Given the description of an element on the screen output the (x, y) to click on. 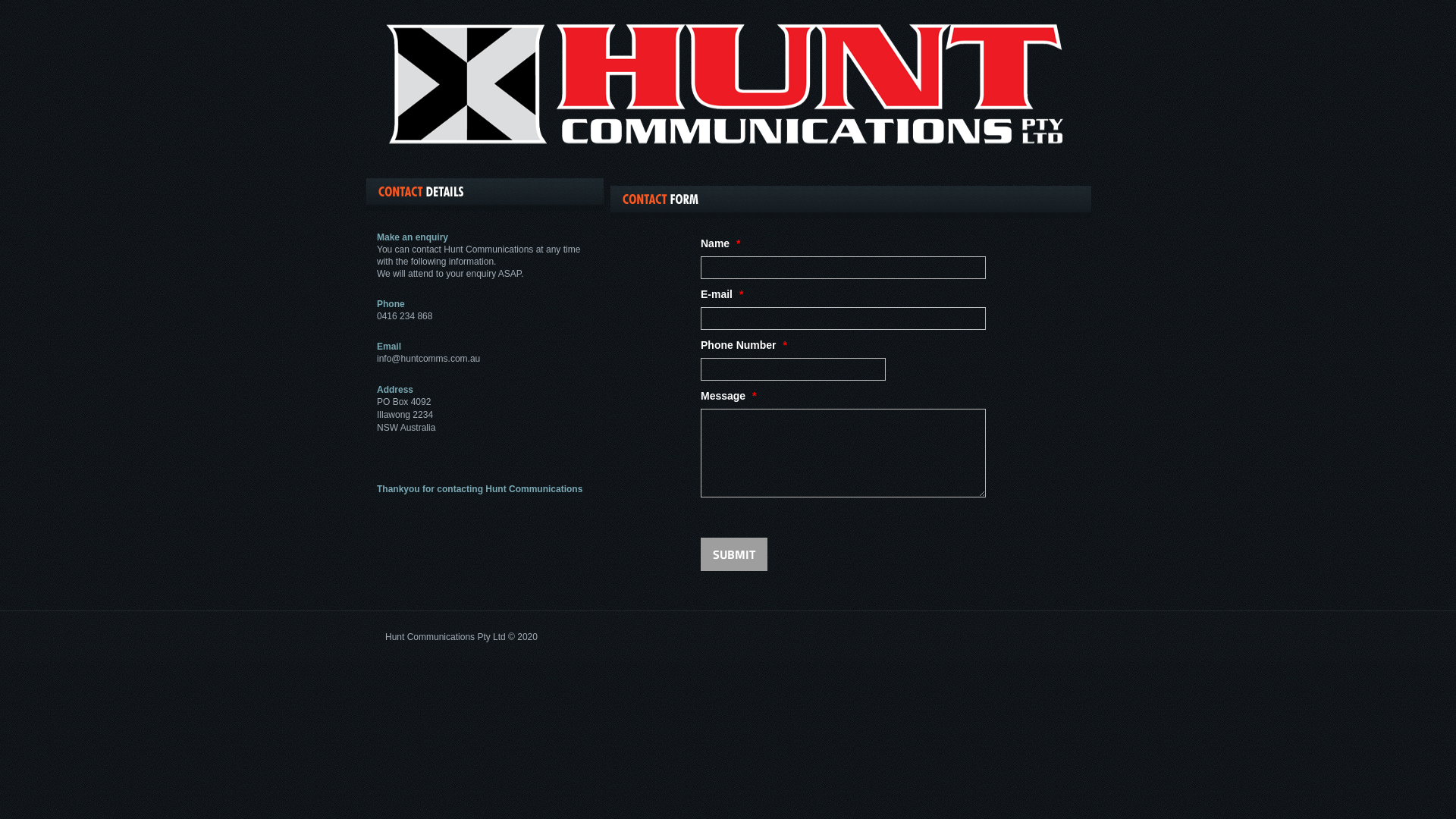
SUBMIT Element type: text (733, 554)
